Given the description of an element on the screen output the (x, y) to click on. 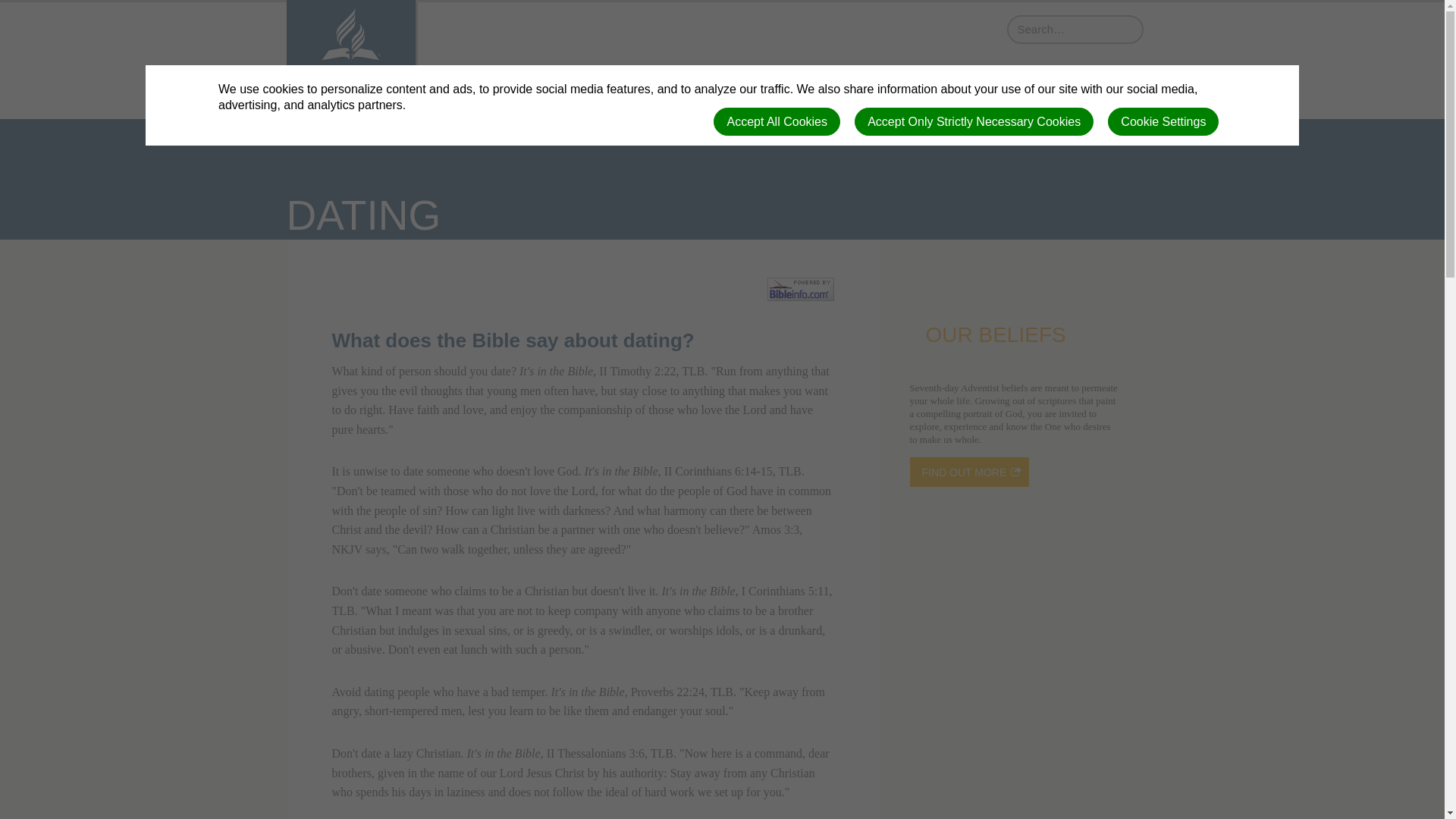
What We Believe (775, 83)
Online Giving (962, 83)
Accept Only Strictly Necessary Cookies (973, 121)
PUNA SDA CHURCH (350, 63)
Livestream (873, 83)
Contact Us (1102, 83)
Cookie Settings (1163, 121)
Accept All Cookies (776, 121)
Links (1036, 83)
FIND OUT MORE (969, 471)
Home (692, 83)
